Given the description of an element on the screen output the (x, y) to click on. 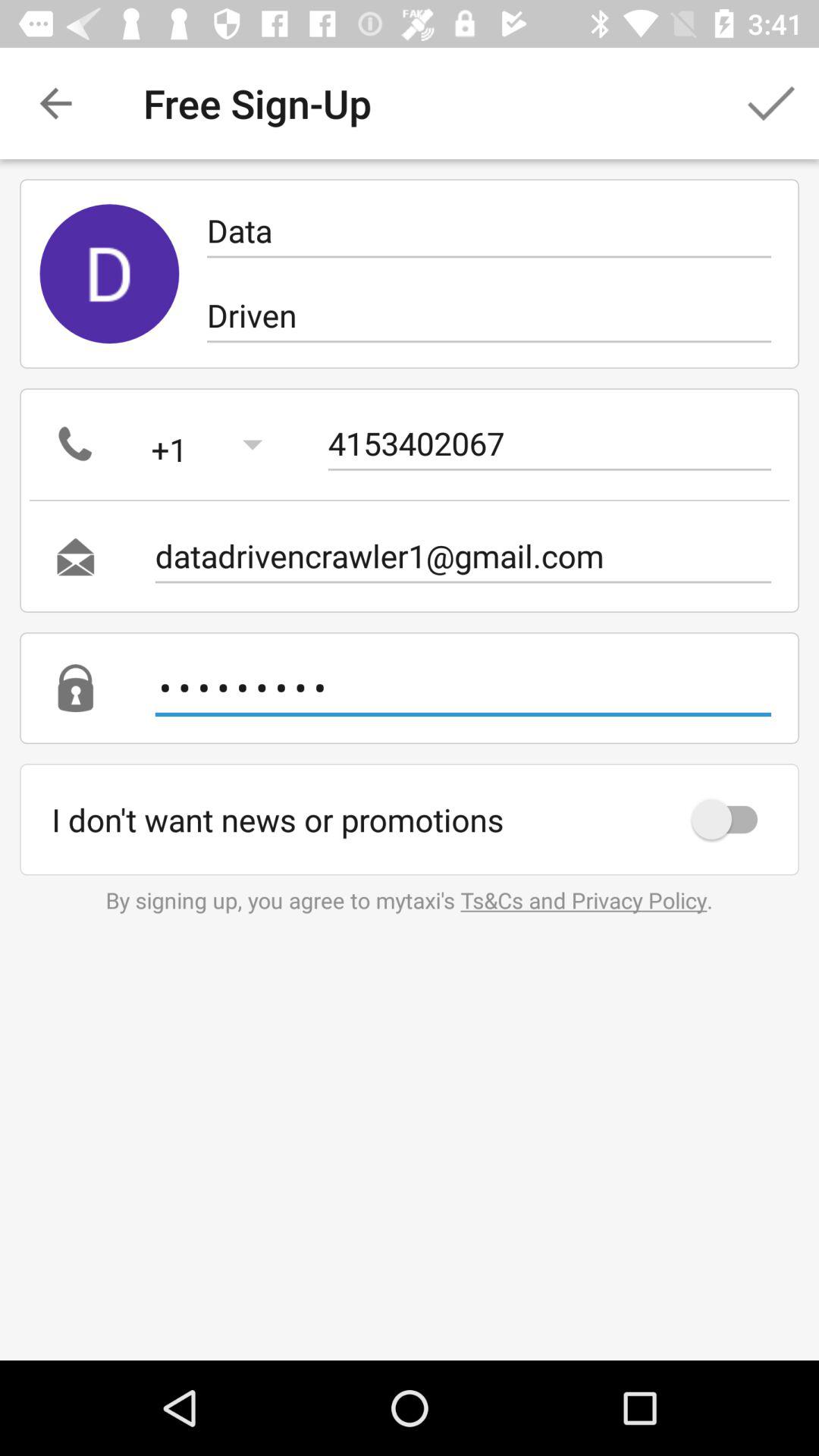
launch the item above the by signing up (731, 819)
